Given the description of an element on the screen output the (x, y) to click on. 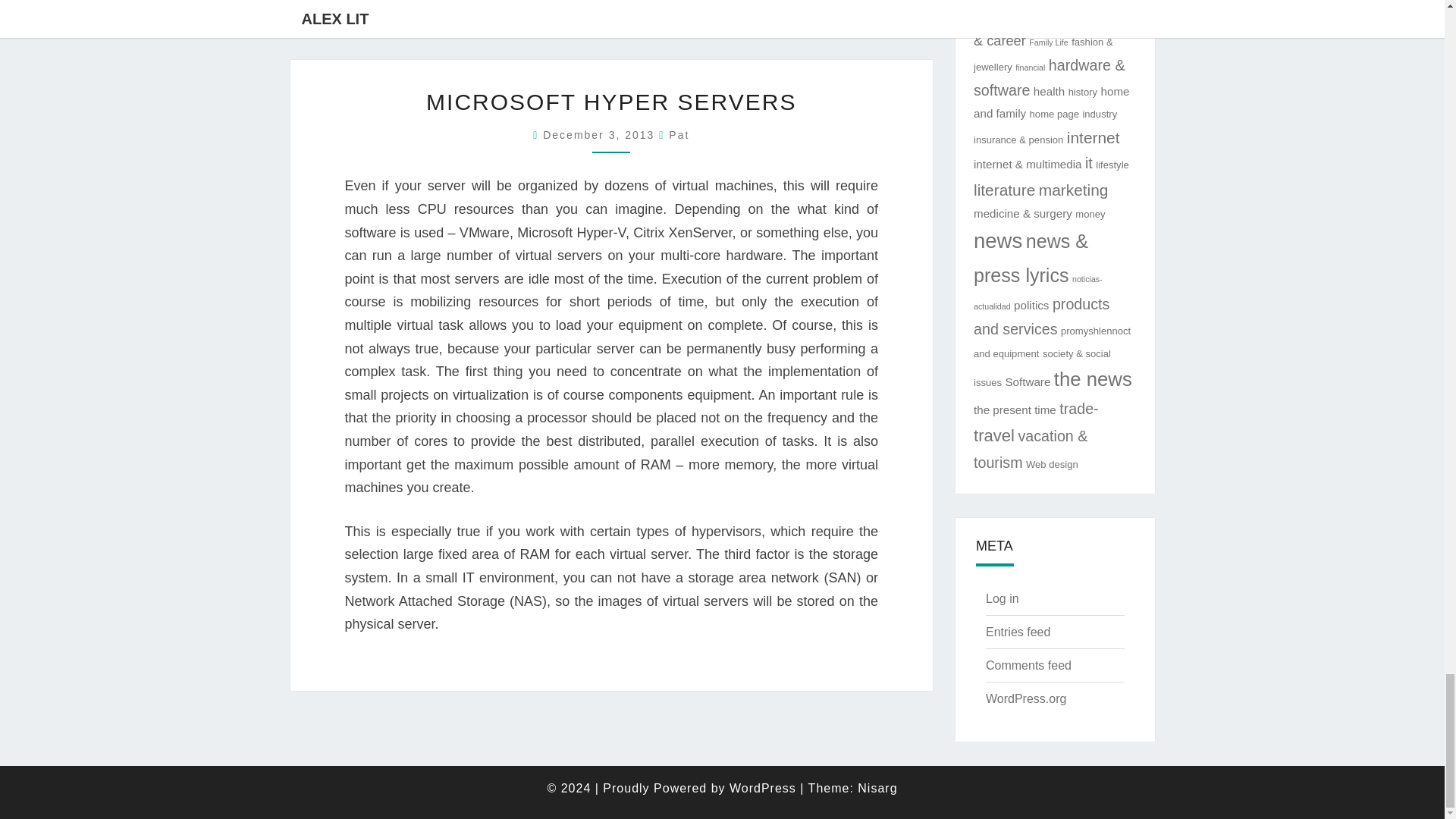
View all posts by Pat (678, 134)
Pat (678, 134)
4:11 am (601, 134)
MICROSOFT HYPER SERVERS (611, 101)
December 3, 2013 (601, 134)
